Given the description of an element on the screen output the (x, y) to click on. 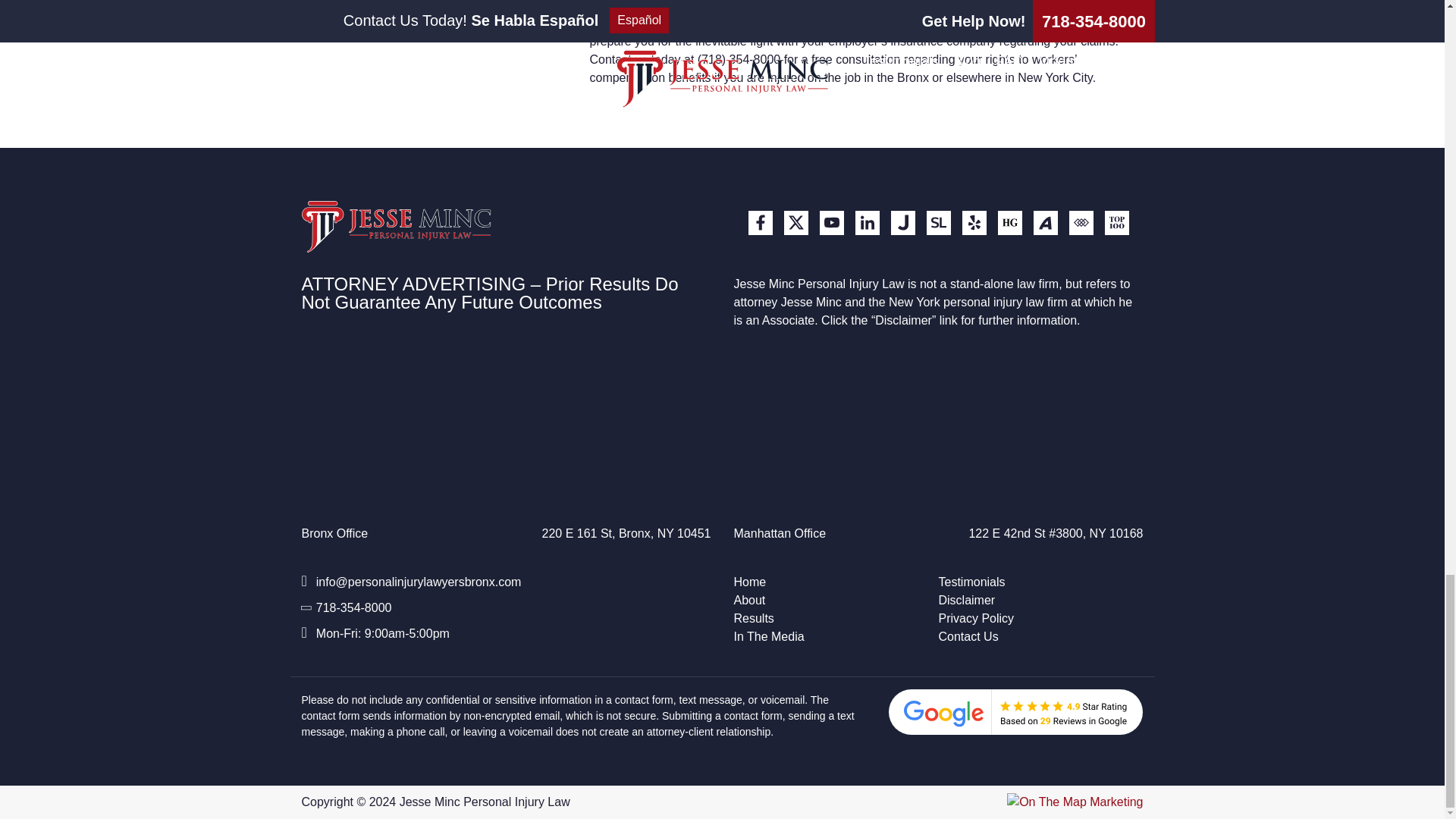
Super Lawyers (938, 222)
Linkedin (867, 222)
Yelp (972, 222)
Youtube (830, 222)
Facebook (759, 222)
Justia (901, 222)
Twitter (796, 222)
Avvo (1044, 222)
HG (1009, 222)
Jesse Minc Personal Injury Law (396, 226)
